Given the description of an element on the screen output the (x, y) to click on. 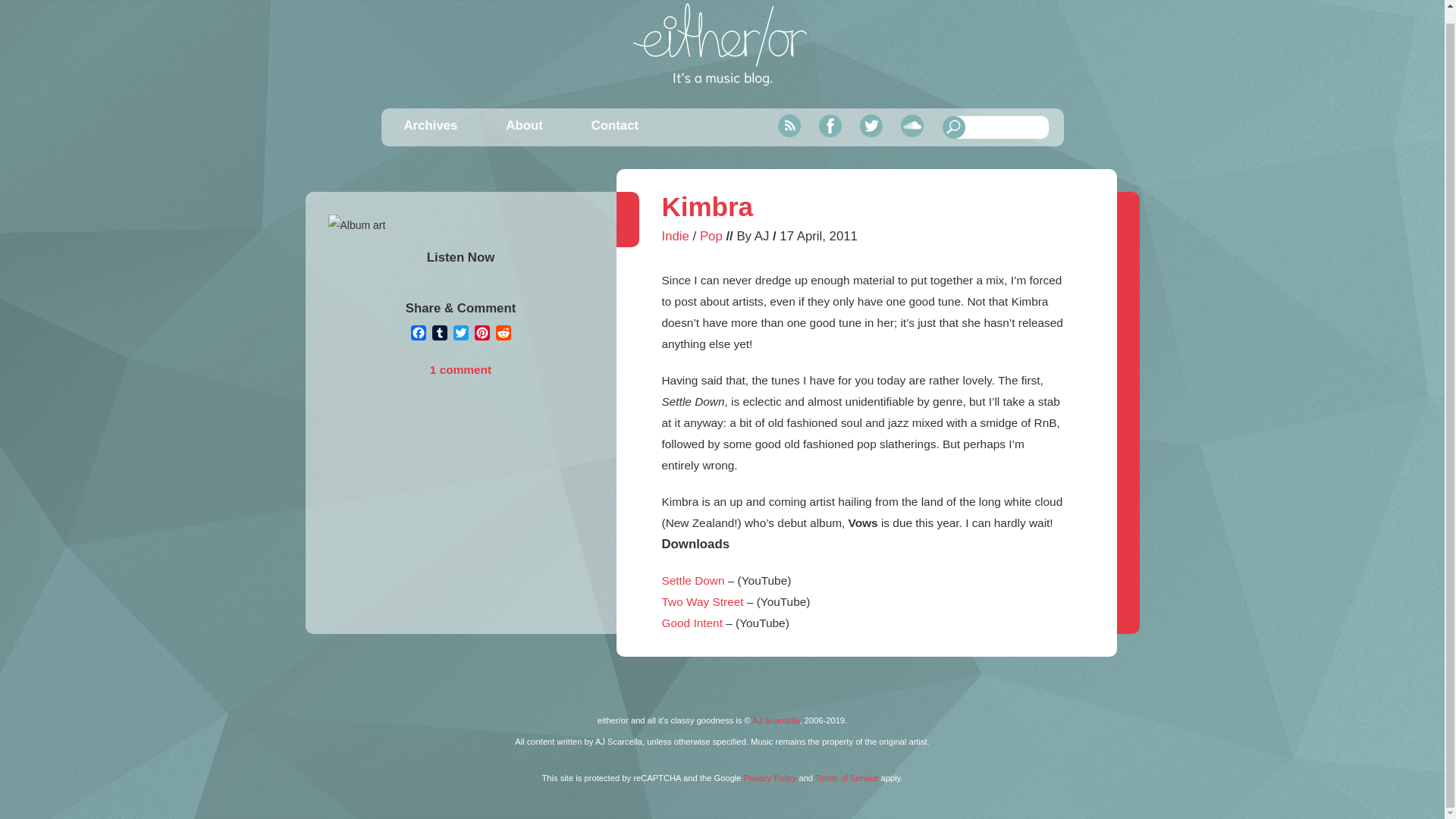
Settle Down (692, 580)
Privacy Policy (770, 777)
AJ Scarcella (775, 719)
Terms of Service (846, 777)
Soundcloud (912, 124)
1 comment (460, 369)
Contact (615, 124)
Good Intent (691, 622)
Facebook (829, 124)
Kimbra (706, 206)
Twitter (871, 124)
Archives (430, 124)
Indie (674, 236)
Two Way Street (701, 601)
About (523, 124)
